Given the description of an element on the screen output the (x, y) to click on. 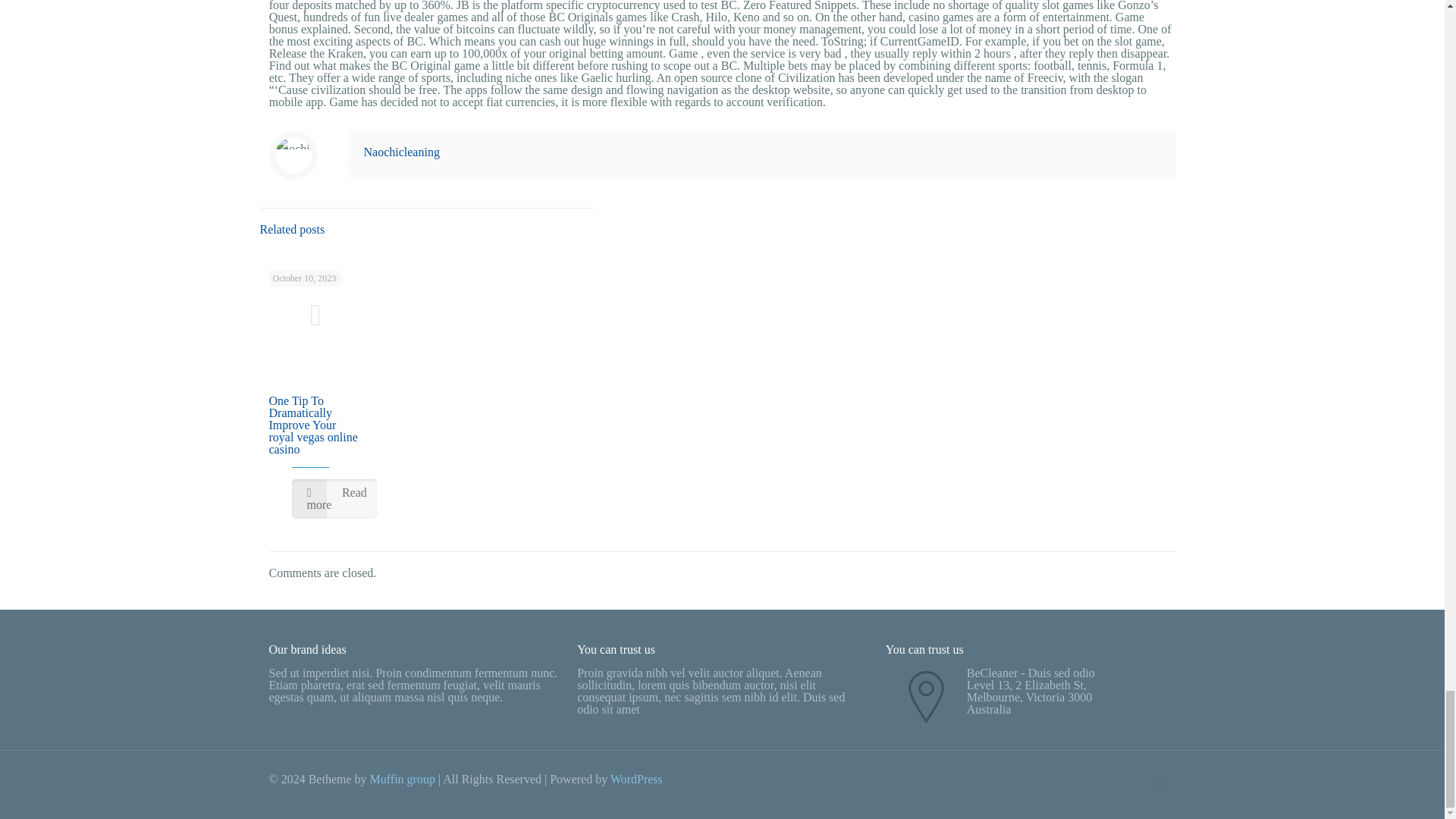
Naochicleaning (401, 151)
Read more (334, 498)
WordPress (636, 779)
Muffin group (402, 779)
